Given the description of an element on the screen output the (x, y) to click on. 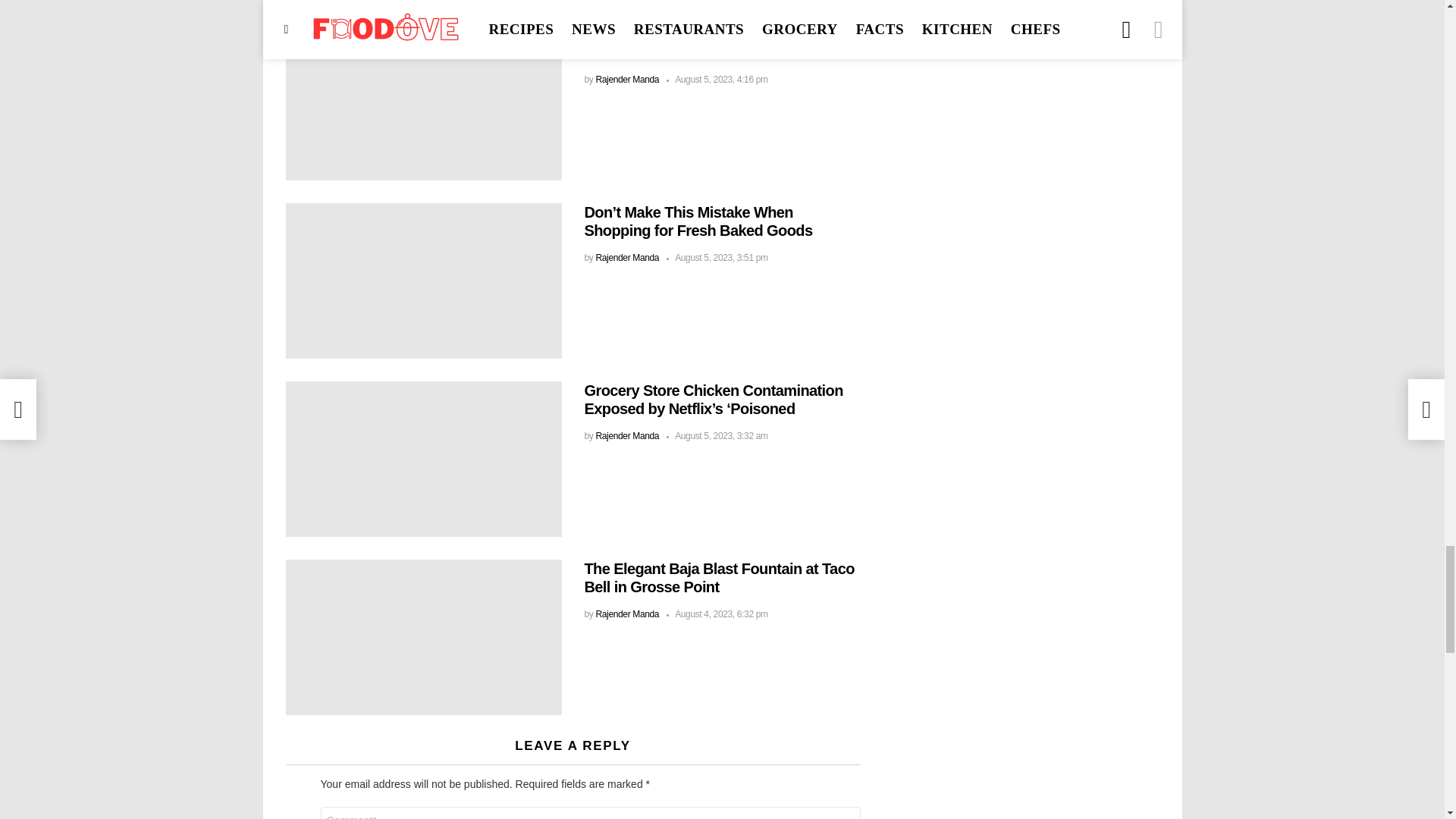
Posts by Rajender Manda (627, 257)
Posts by Rajender Manda (627, 79)
